Given the description of an element on the screen output the (x, y) to click on. 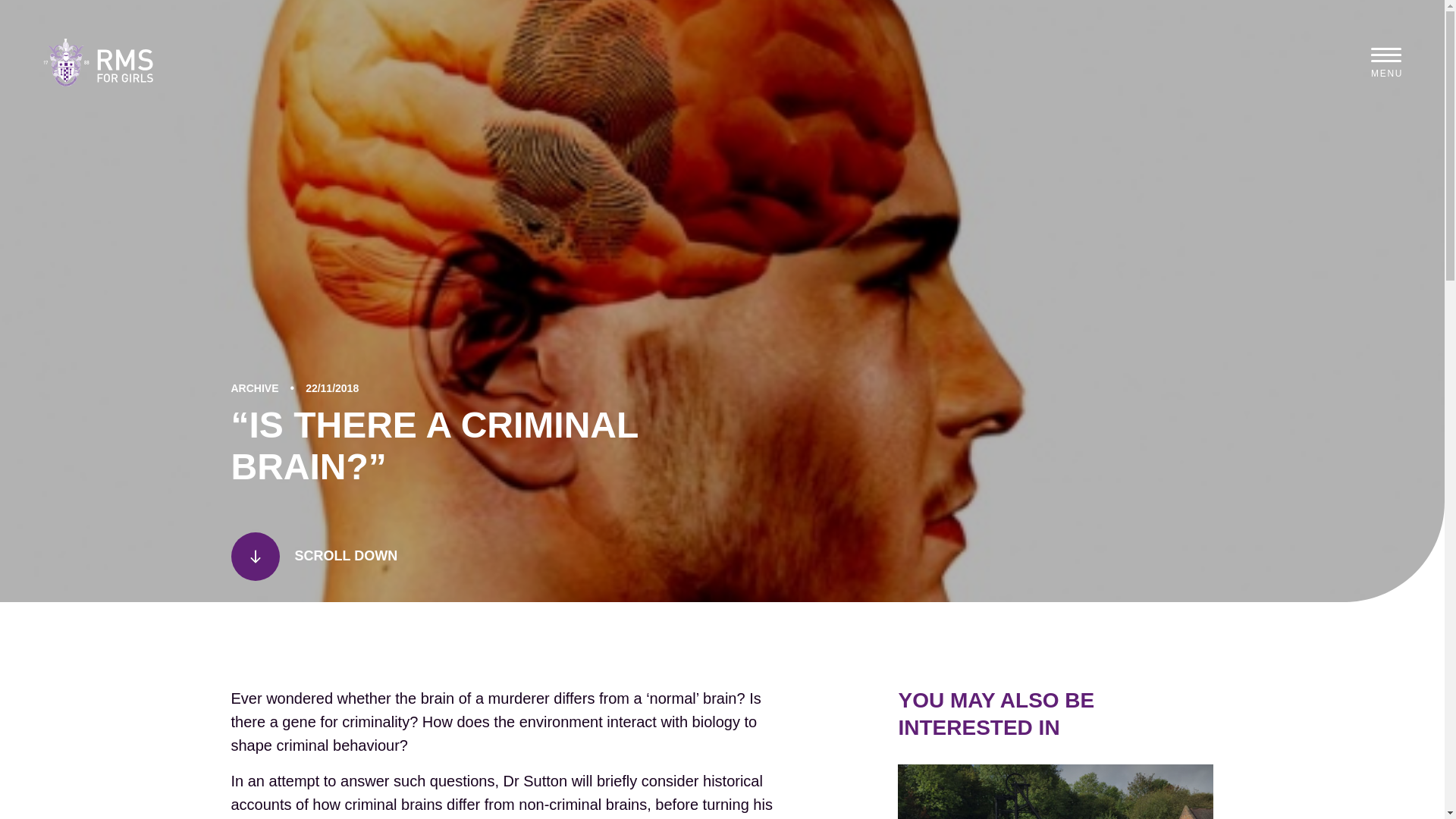
SCROLL DOWN (495, 556)
